Given the description of an element on the screen output the (x, y) to click on. 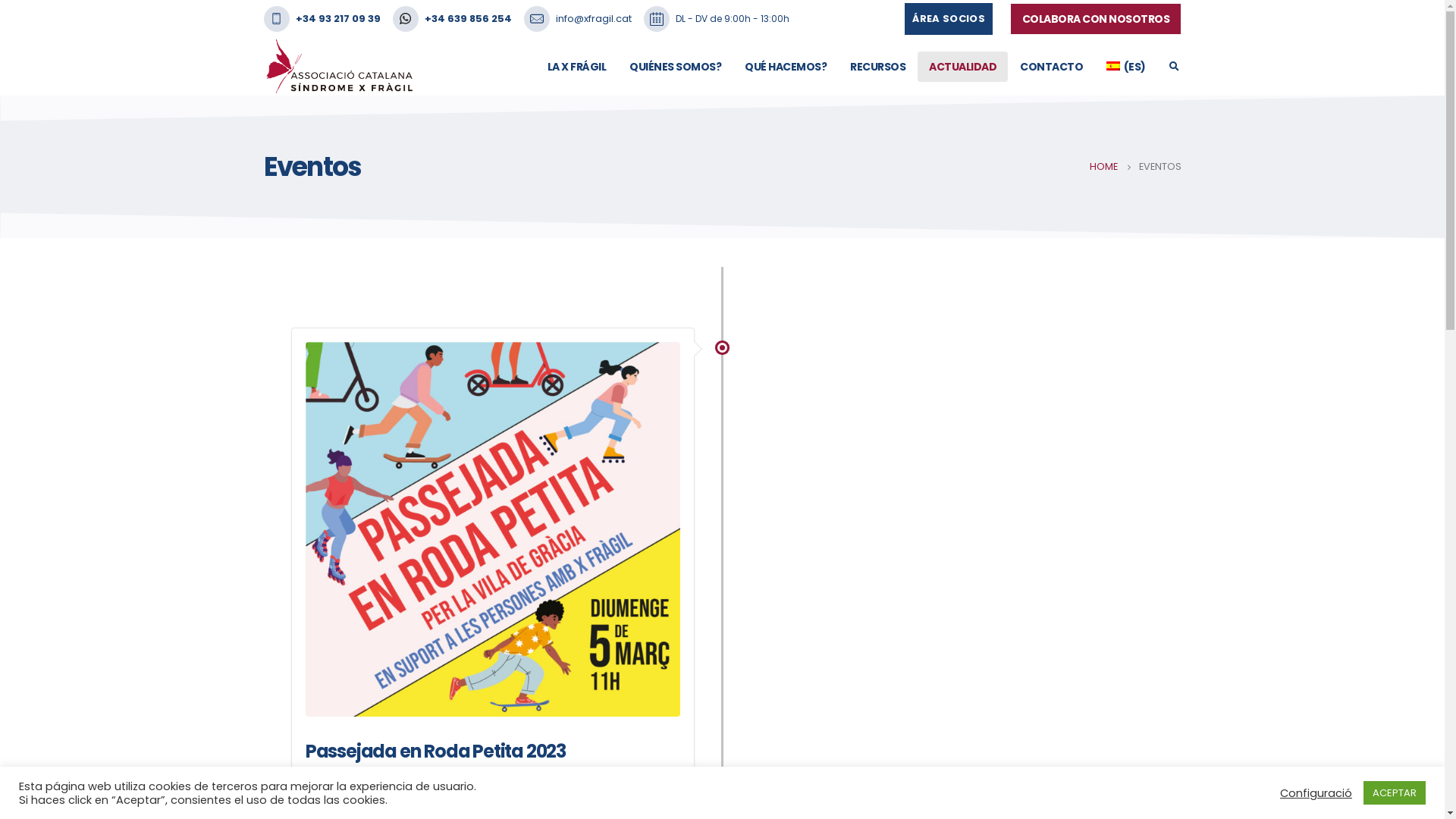
RECURSOS Element type: text (877, 66)
(ES) Element type: text (1125, 66)
ACEPTAR Element type: text (1394, 792)
info@xfragil.cat Element type: text (592, 18)
+34 639 856 254 Element type: text (467, 18)
COLABORA CON NOSOTROS Element type: text (1095, 18)
CONTACTO Element type: text (1051, 66)
Passejada en Roda Petita 2023 Element type: text (435, 750)
+34 93 217 09 39 Element type: text (337, 18)
HOME Element type: text (1102, 166)
ACTUALIDAD Element type: text (962, 66)
